Given the description of an element on the screen output the (x, y) to click on. 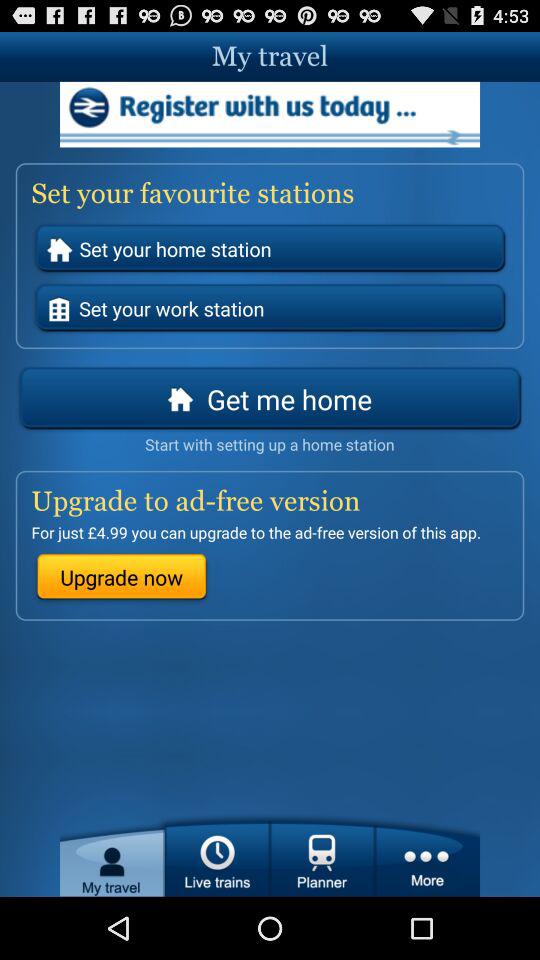
know about the advertisement (270, 114)
